Given the description of an element on the screen output the (x, y) to click on. 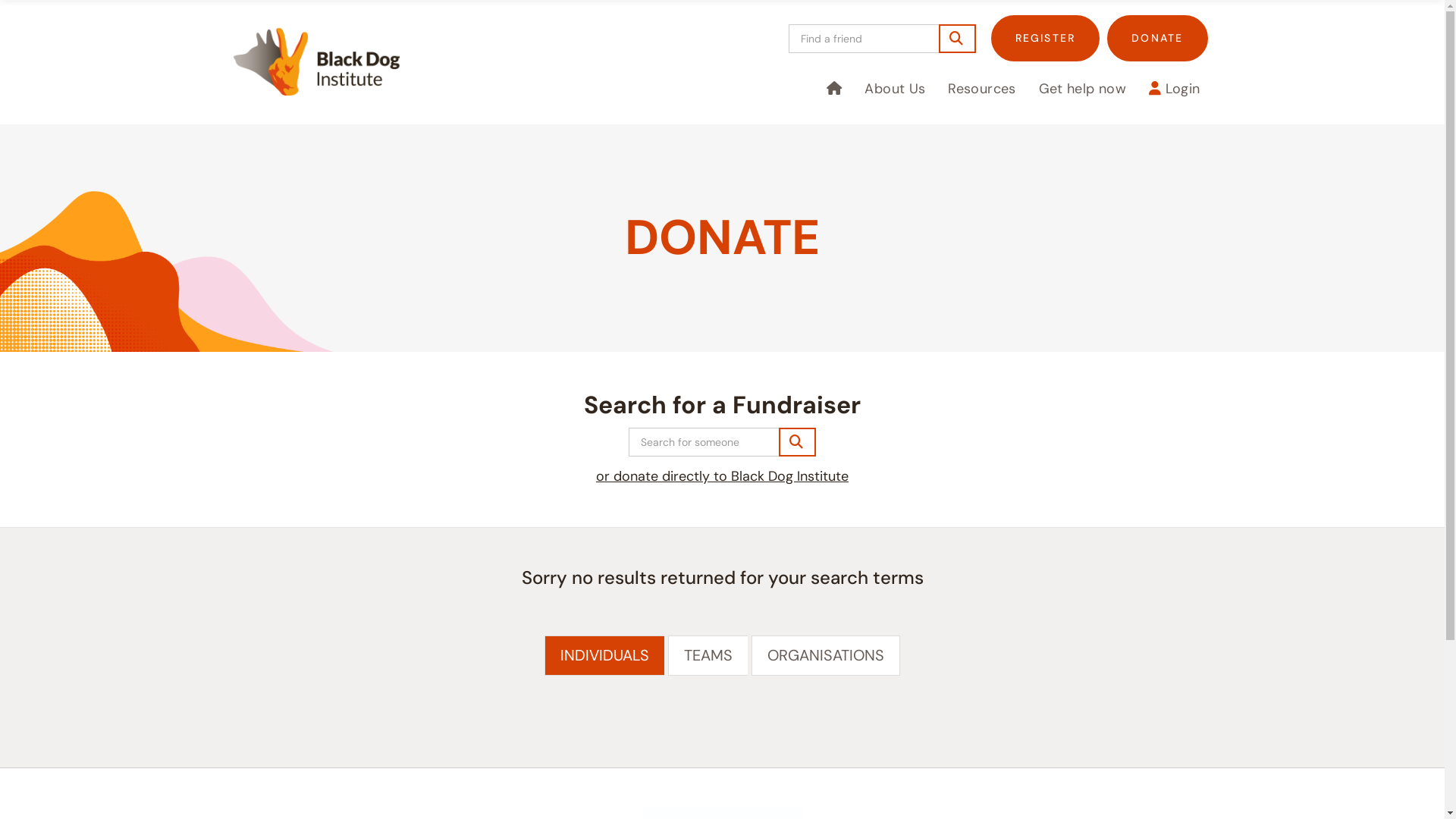
Login Element type: text (1174, 88)
TEAMS Element type: text (707, 655)
DONATE Element type: text (1157, 38)
About Us Element type: text (894, 89)
Resources Element type: text (981, 89)
ORGANISATIONS Element type: text (825, 655)
Get help now Element type: text (1082, 89)
or donate directly to Black Dog Institute Element type: text (722, 476)
REGISTER Element type: text (1045, 38)
INDIVIDUALS Element type: text (604, 655)
